Given the description of an element on the screen output the (x, y) to click on. 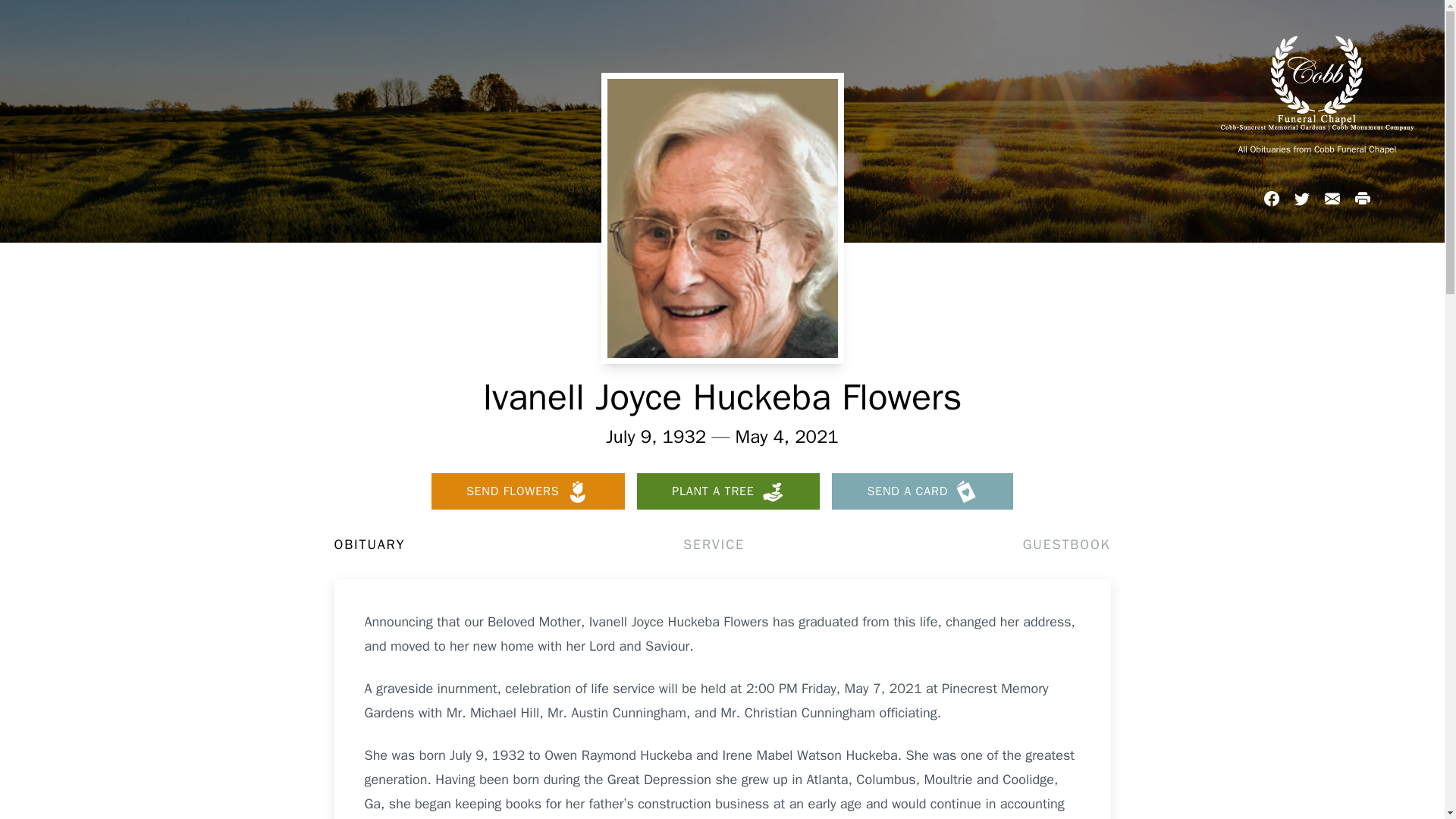
GUESTBOOK (1066, 544)
SERVICE (713, 544)
PLANT A TREE (728, 491)
SEND FLOWERS (527, 491)
OBITUARY (368, 544)
SEND A CARD (922, 491)
All Obituaries from Cobb Funeral Chapel (1316, 149)
